Given the description of an element on the screen output the (x, y) to click on. 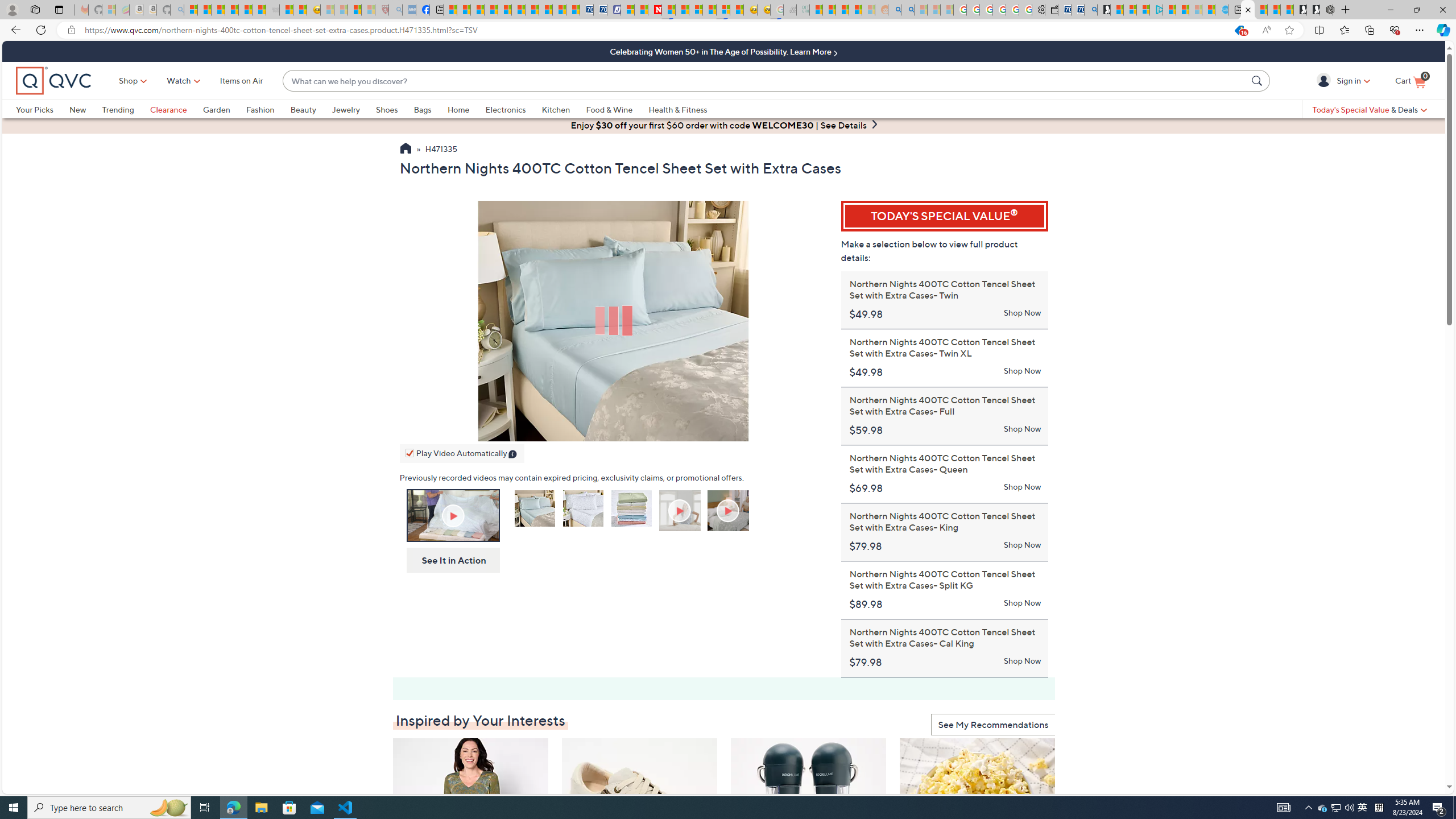
Return to QVC Homepage (405, 149)
Shop (129, 80)
New (84, 109)
Product Features (680, 511)
Bags (421, 109)
